Given the description of an element on the screen output the (x, y) to click on. 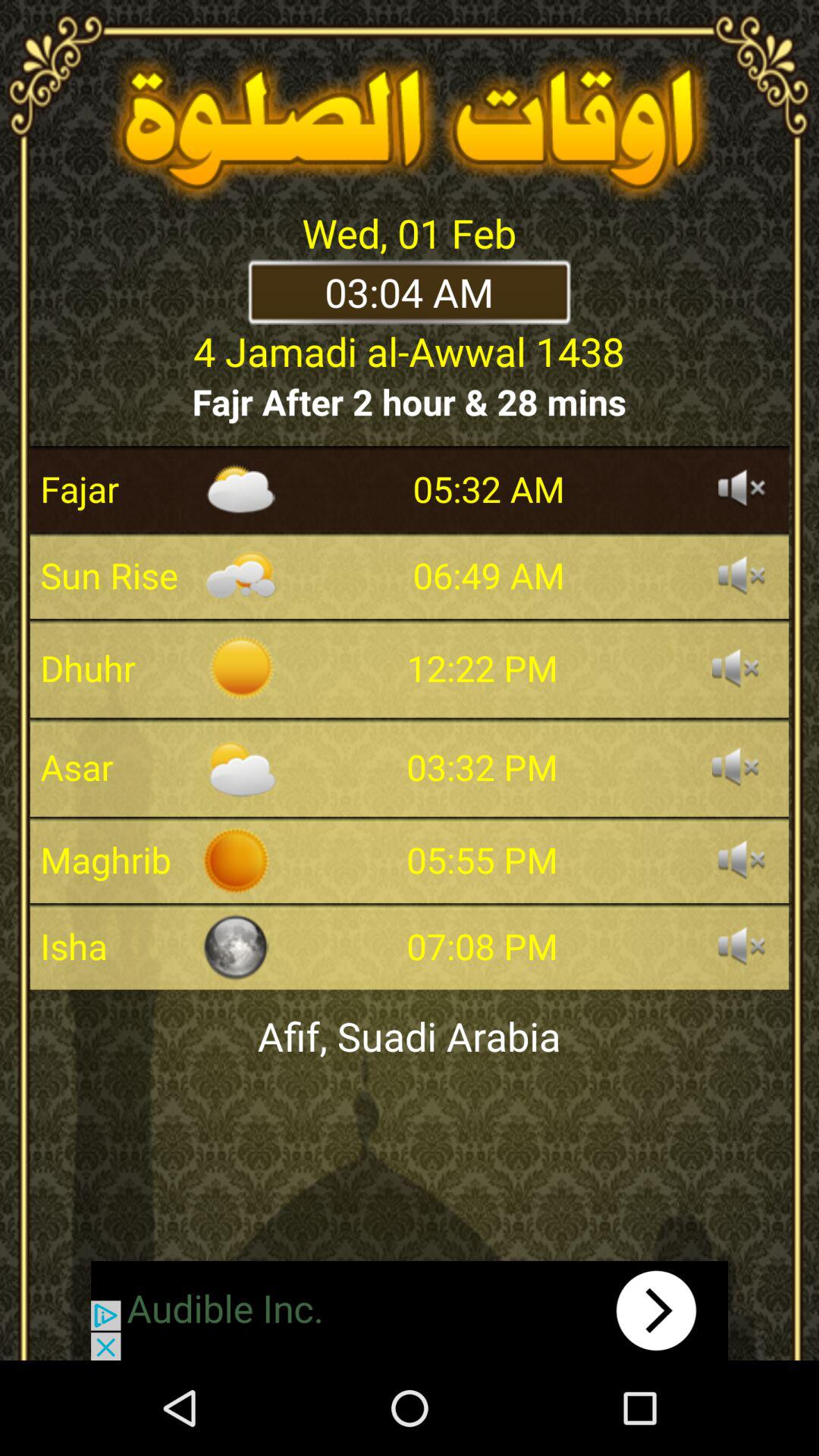
sun rise button (741, 575)
